Given the description of an element on the screen output the (x, y) to click on. 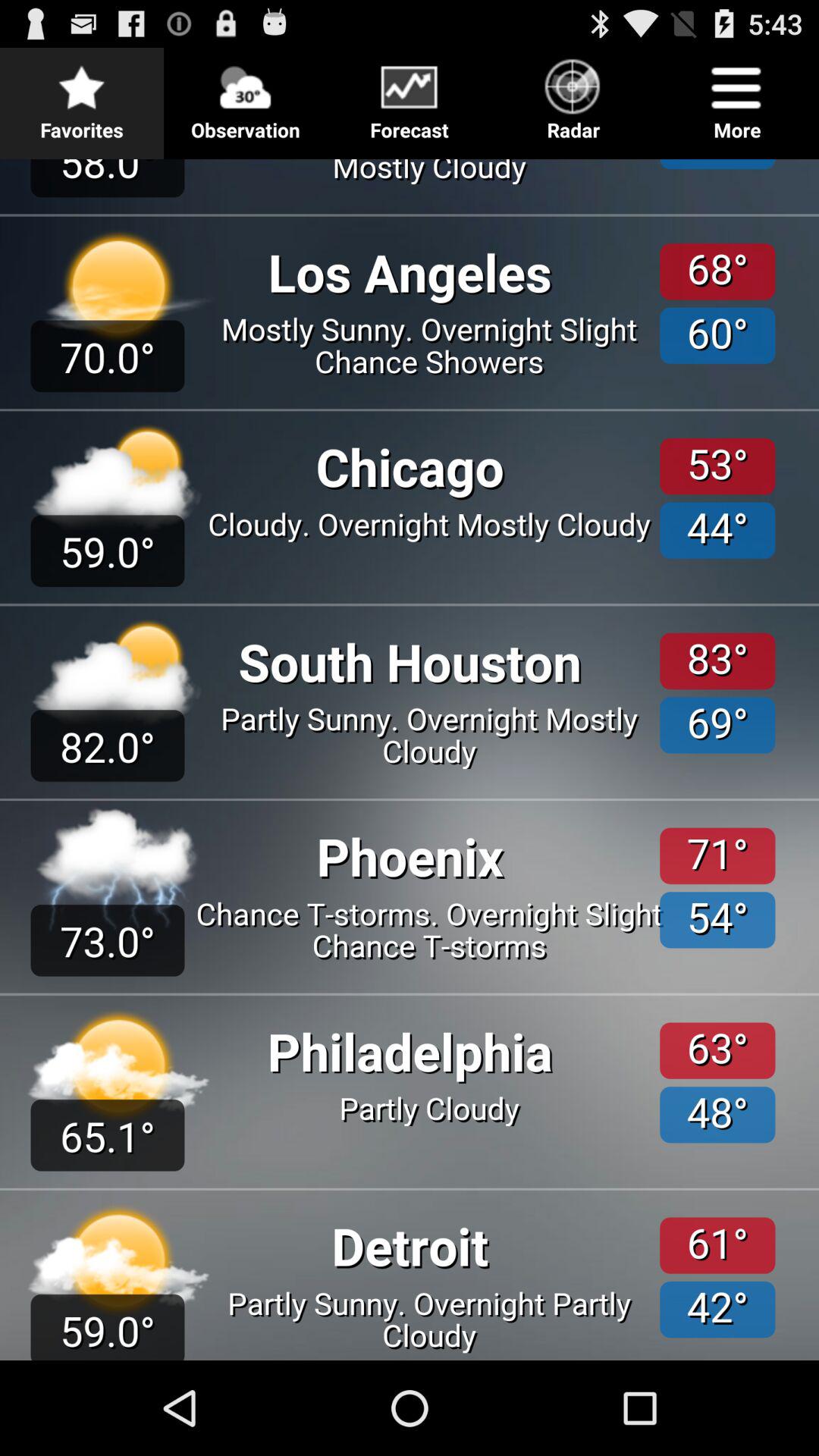
turn off item to the left of the forecast (245, 95)
